Given the description of an element on the screen output the (x, y) to click on. 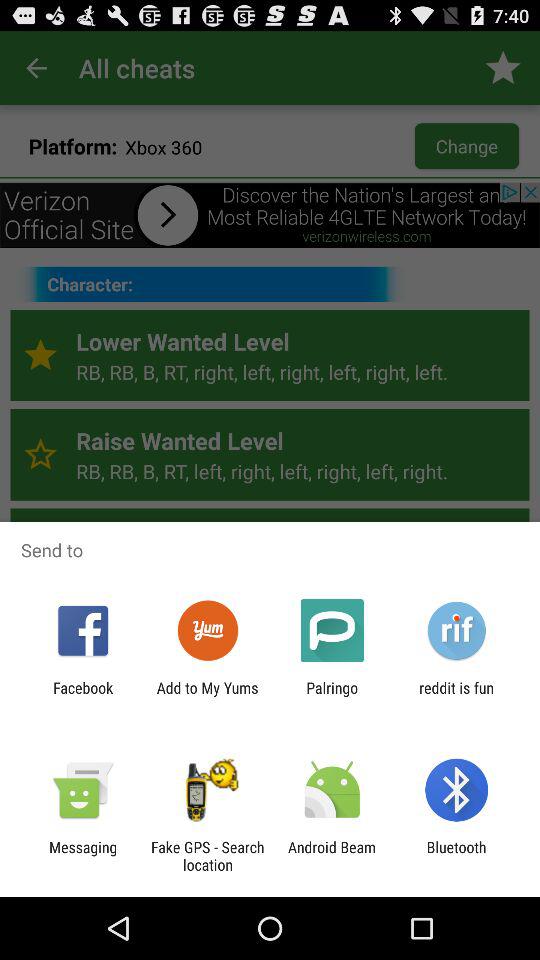
tap item next to add to my item (332, 696)
